Given the description of an element on the screen output the (x, y) to click on. 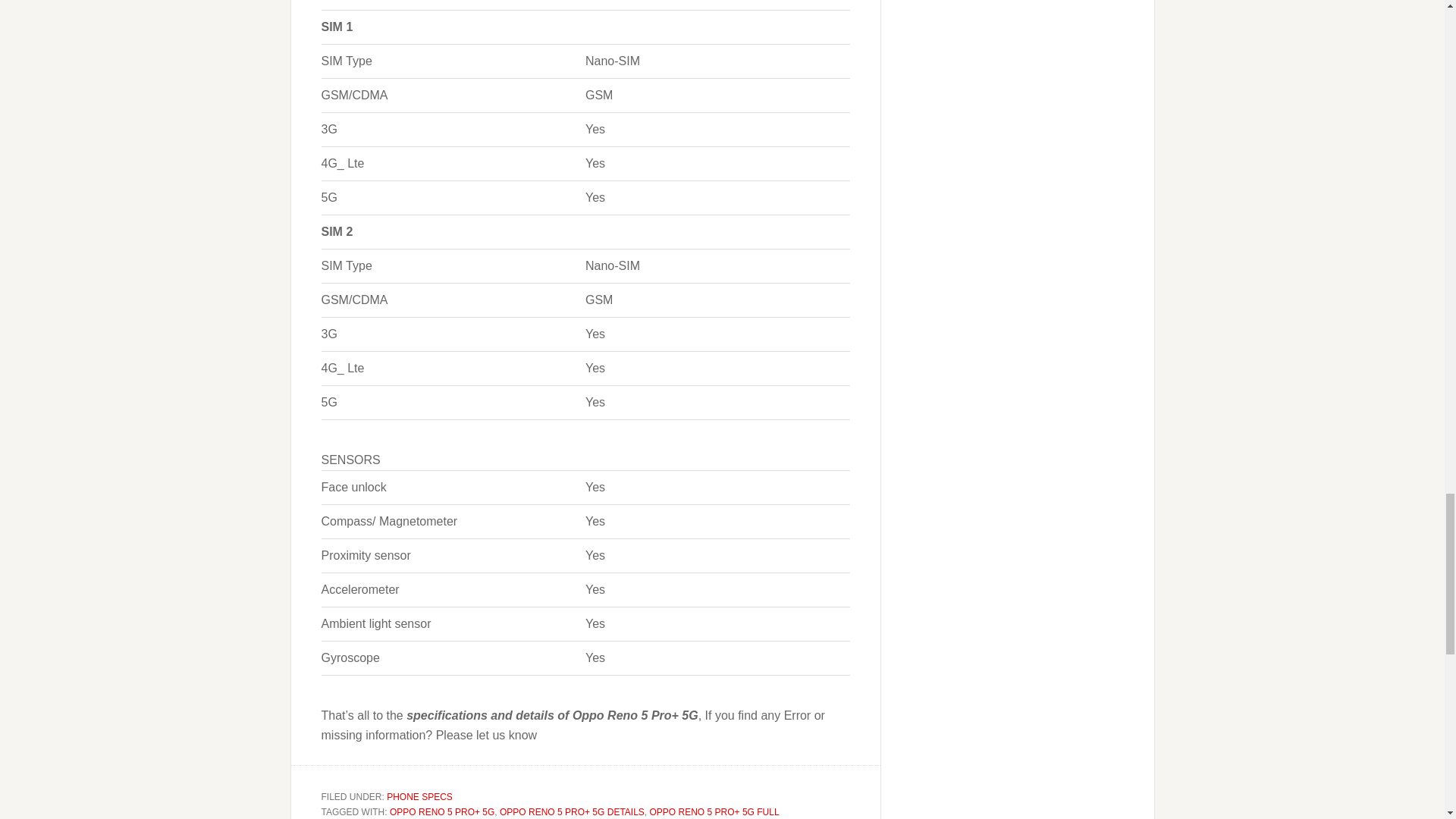
PHONE SPECS (419, 796)
